Given the description of an element on the screen output the (x, y) to click on. 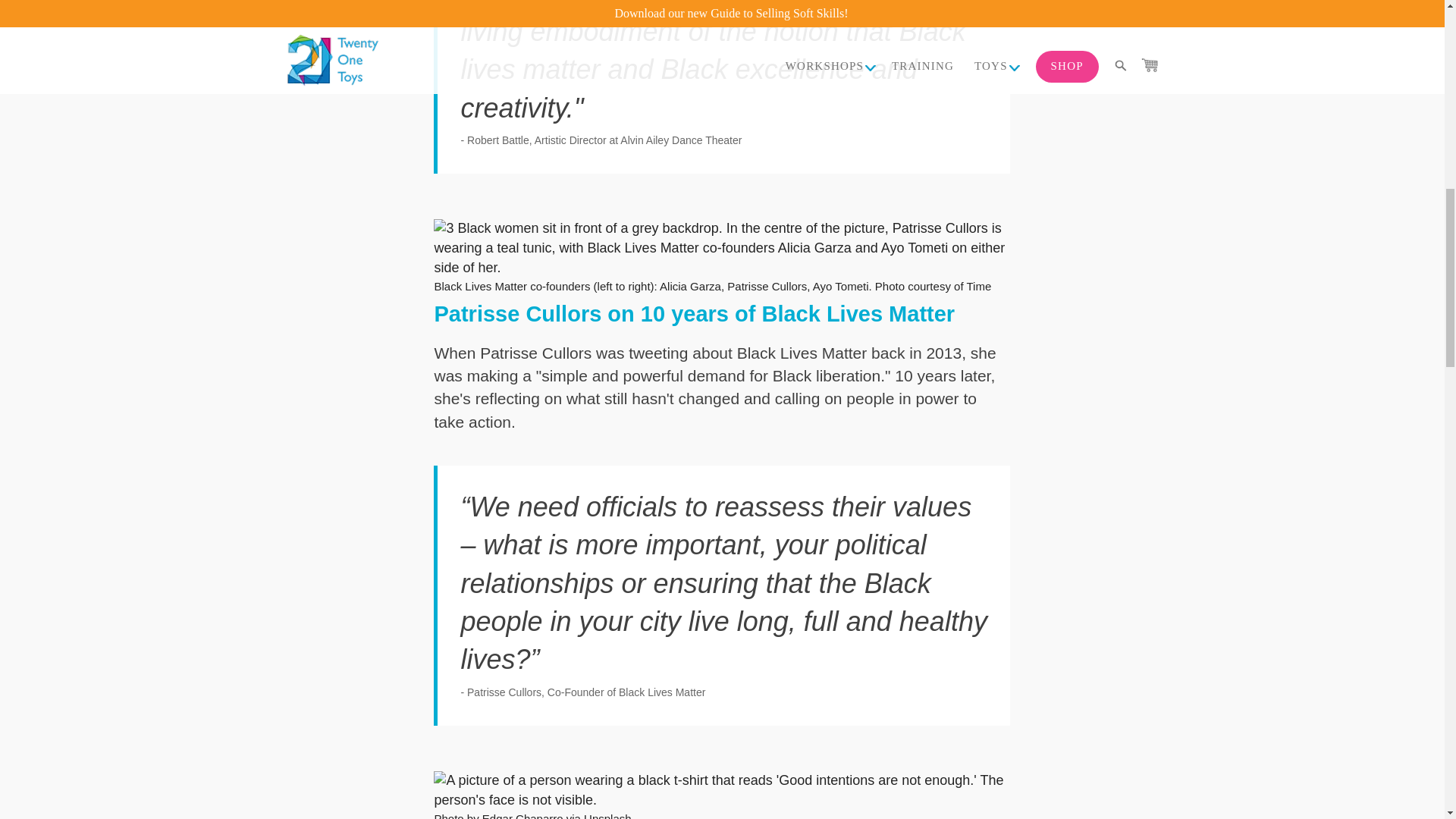
Patrisse Cullors on 10 years of Black Lives Matter (694, 313)
